Given the description of an element on the screen output the (x, y) to click on. 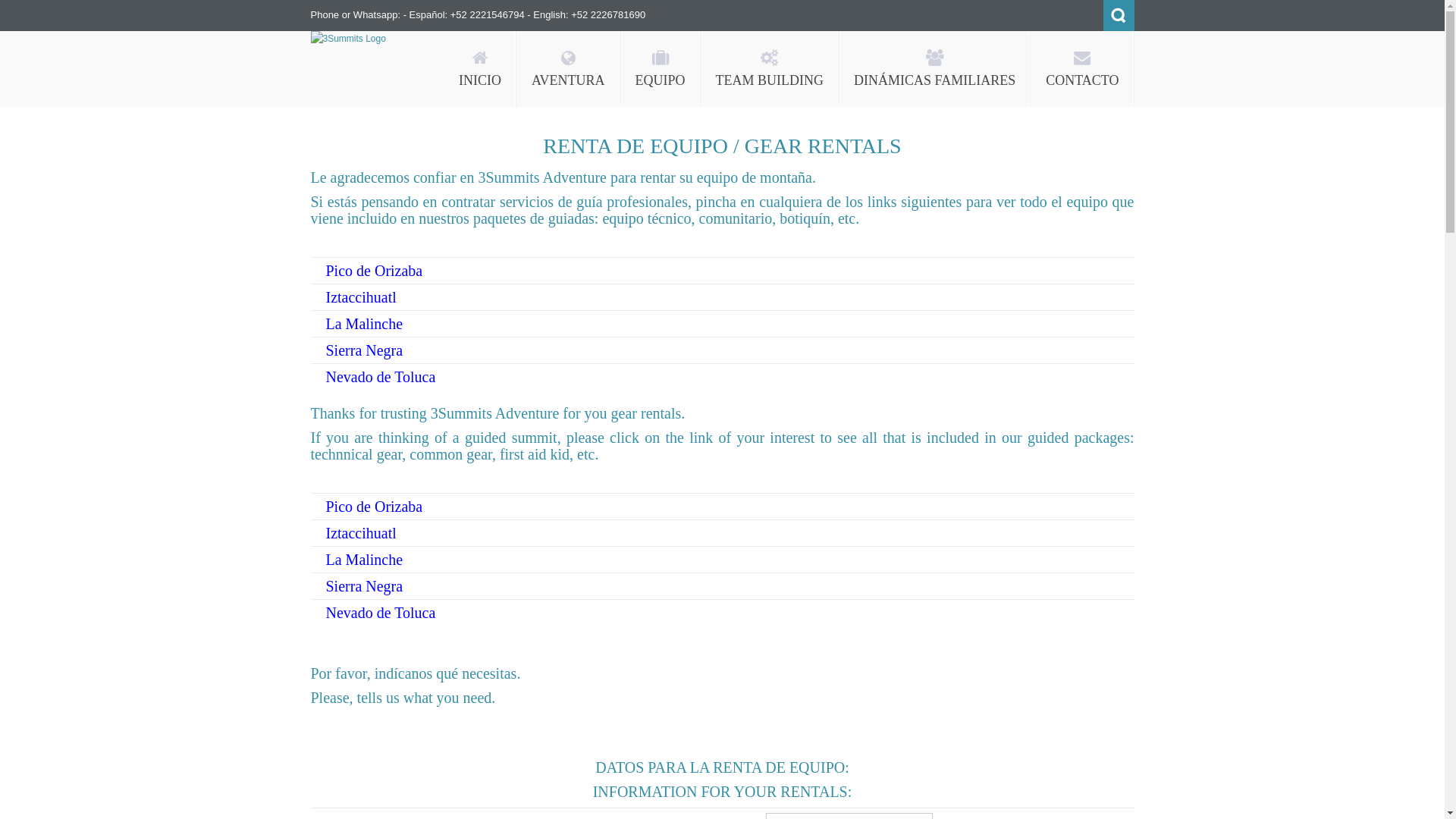
EQUIPO Element type: text (660, 68)
TEAM BUILDING Element type: text (769, 68)
CONTACTO Element type: text (1081, 68)
INICIO Element type: text (479, 68)
Iztaccihuatl Element type: text (361, 296)
Iztaccihuatl Element type: text (361, 532)
La Malinche Element type: text (364, 559)
Pico de Orizaba Element type: text (374, 270)
La Malinche Element type: text (364, 323)
AVENTURA Element type: text (568, 68)
Pico de Orizaba Element type: text (374, 506)
Search Element type: text (1117, 15)
Nevado de Toluca Element type: text (381, 612)
Nevado de Toluca Element type: text (381, 376)
Sierra Negra Element type: text (364, 350)
Sierra Negra Element type: text (364, 585)
